Given the description of an element on the screen output the (x, y) to click on. 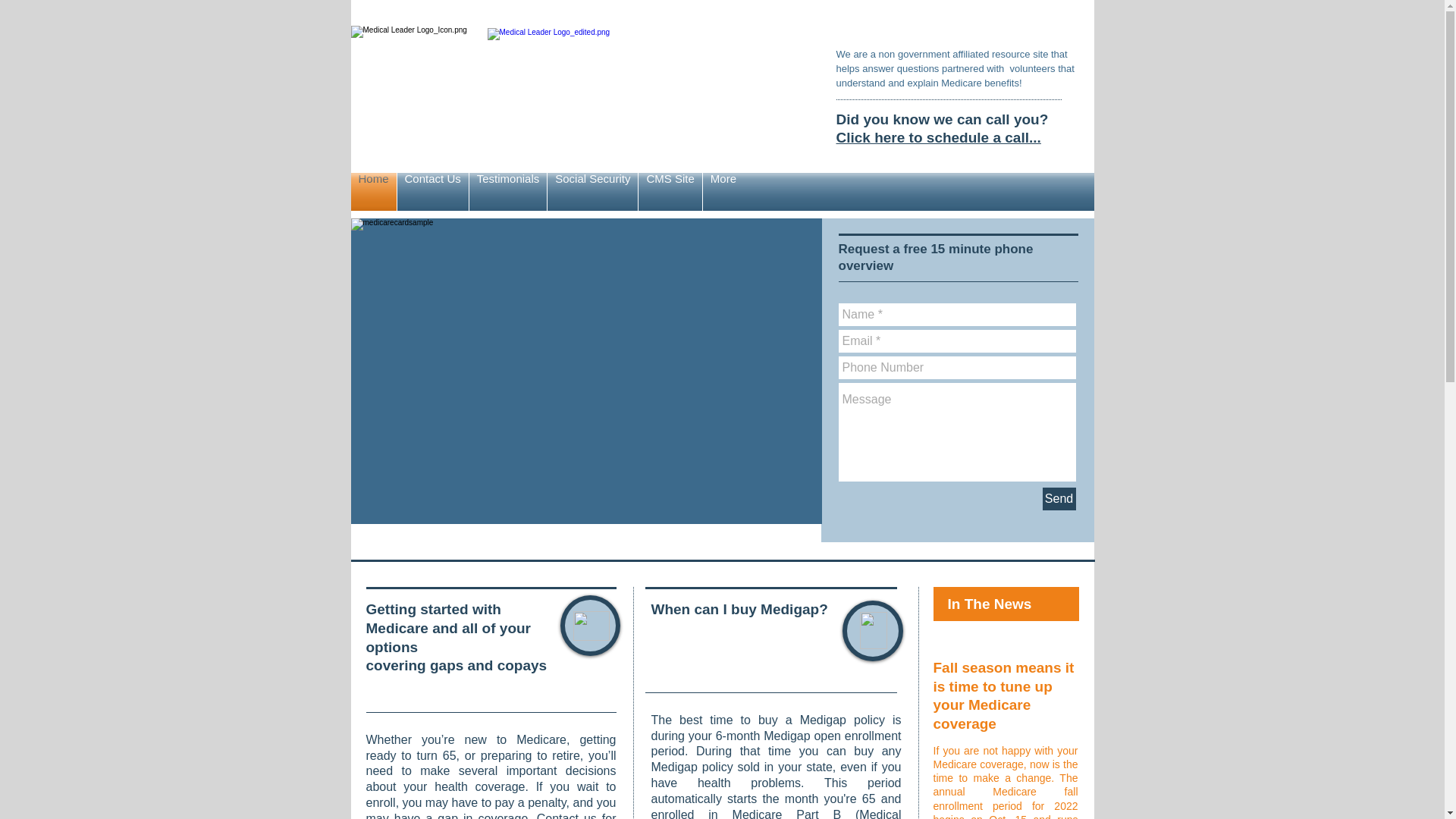
Click here to schedule a call... (938, 137)
Contact Us (432, 191)
Testimonials (507, 191)
Social Security (592, 191)
CMS Site (670, 191)
Send (1058, 498)
Home (373, 191)
